Given the description of an element on the screen output the (x, y) to click on. 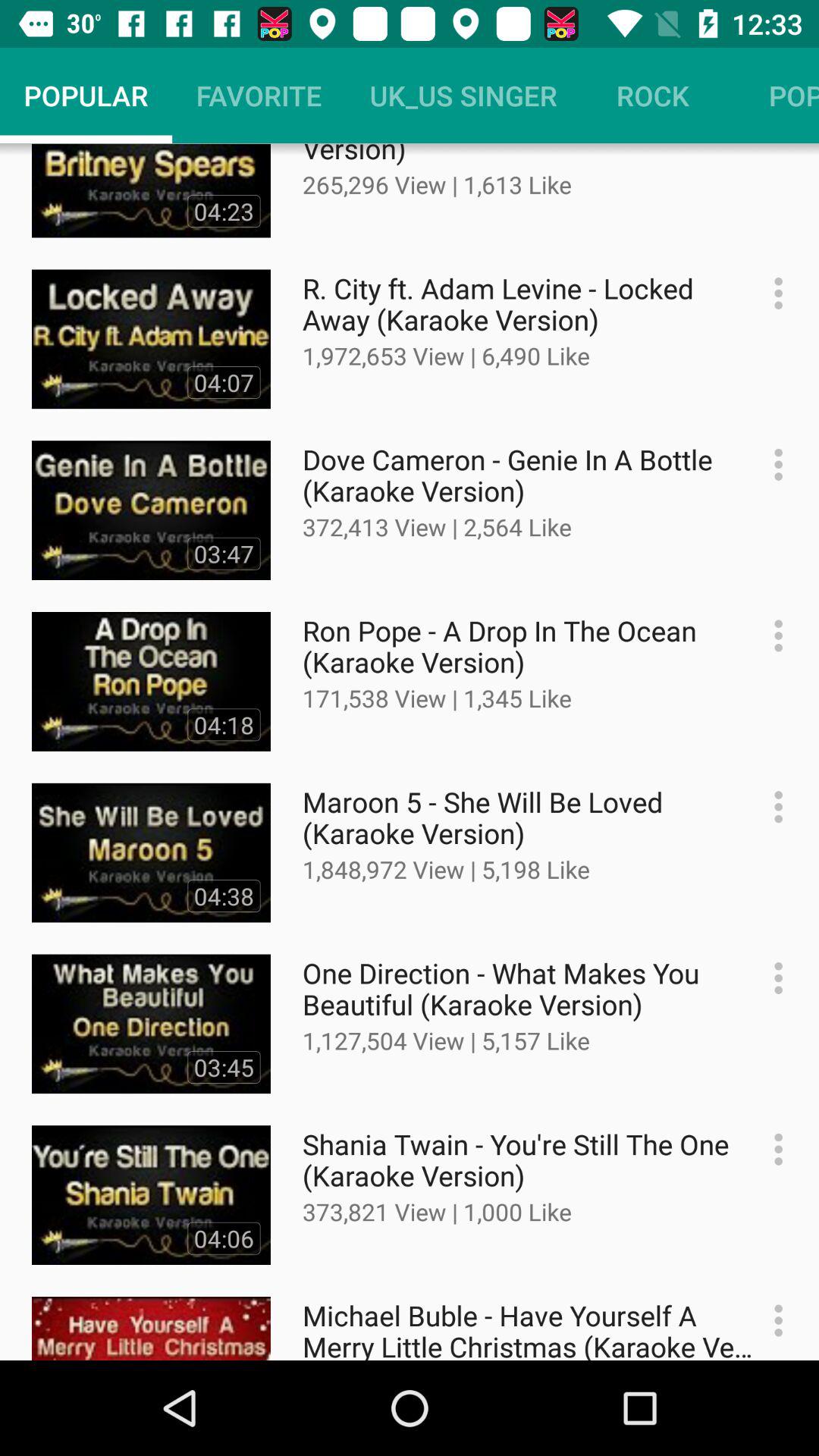
open more settings (770, 978)
